Given the description of an element on the screen output the (x, y) to click on. 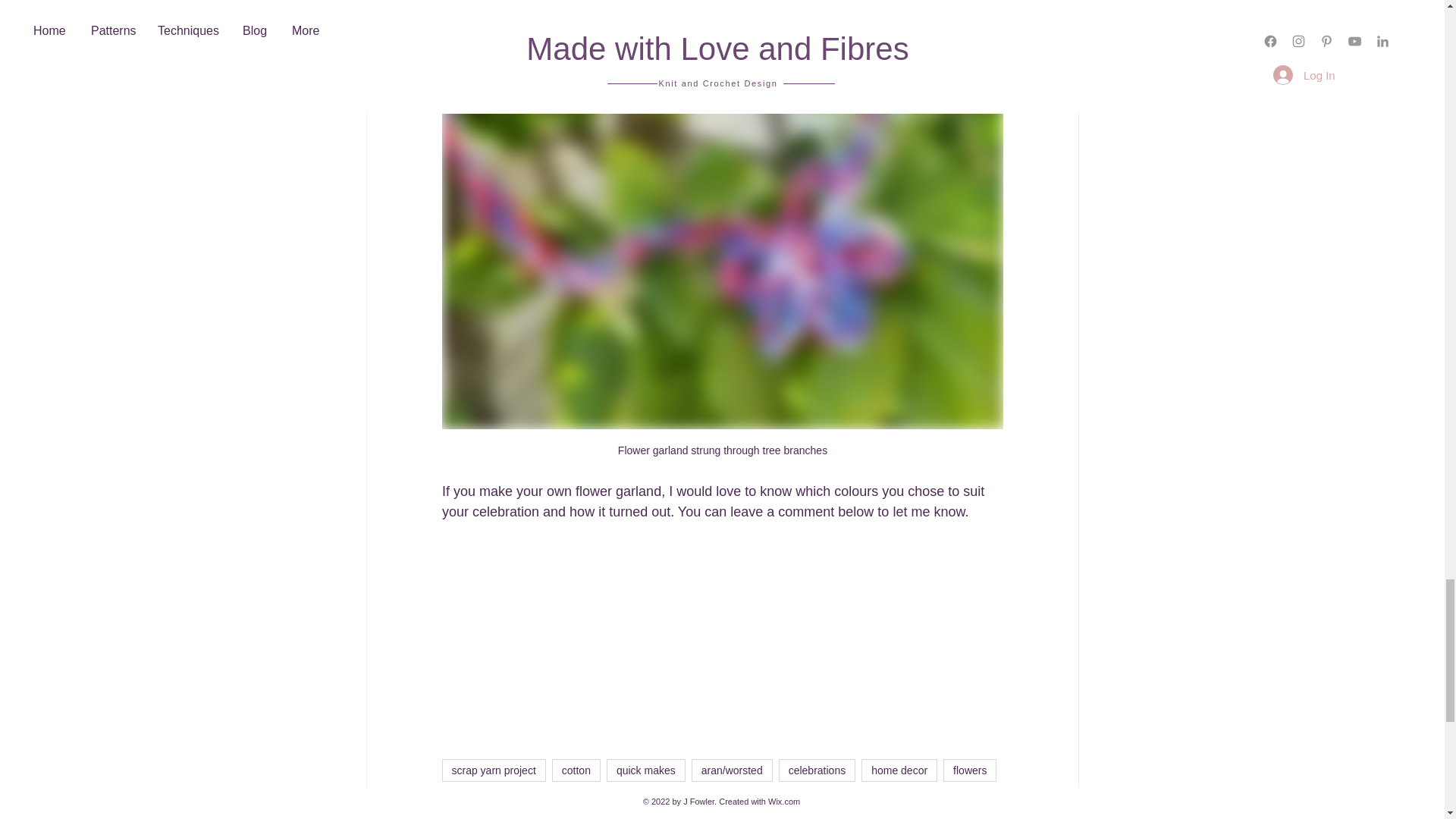
scrap yarn project (492, 770)
home decor (899, 770)
cotton (575, 770)
celebrations (817, 770)
remote content (722, 636)
free pattern (478, 798)
quick makes (646, 770)
flowers (969, 770)
